Given the description of an element on the screen output the (x, y) to click on. 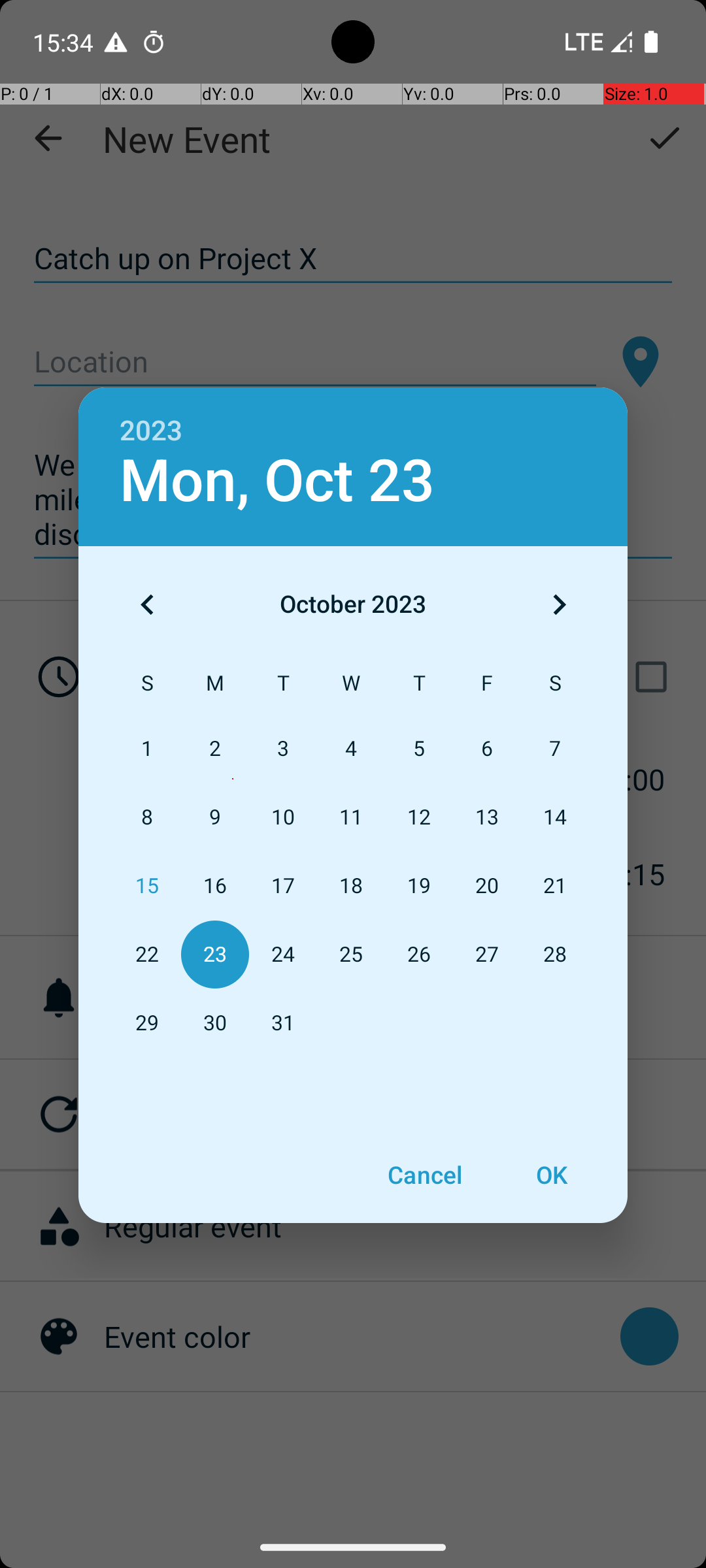
Mon, Oct 23 Element type: android.widget.TextView (276, 480)
